Given the description of an element on the screen output the (x, y) to click on. 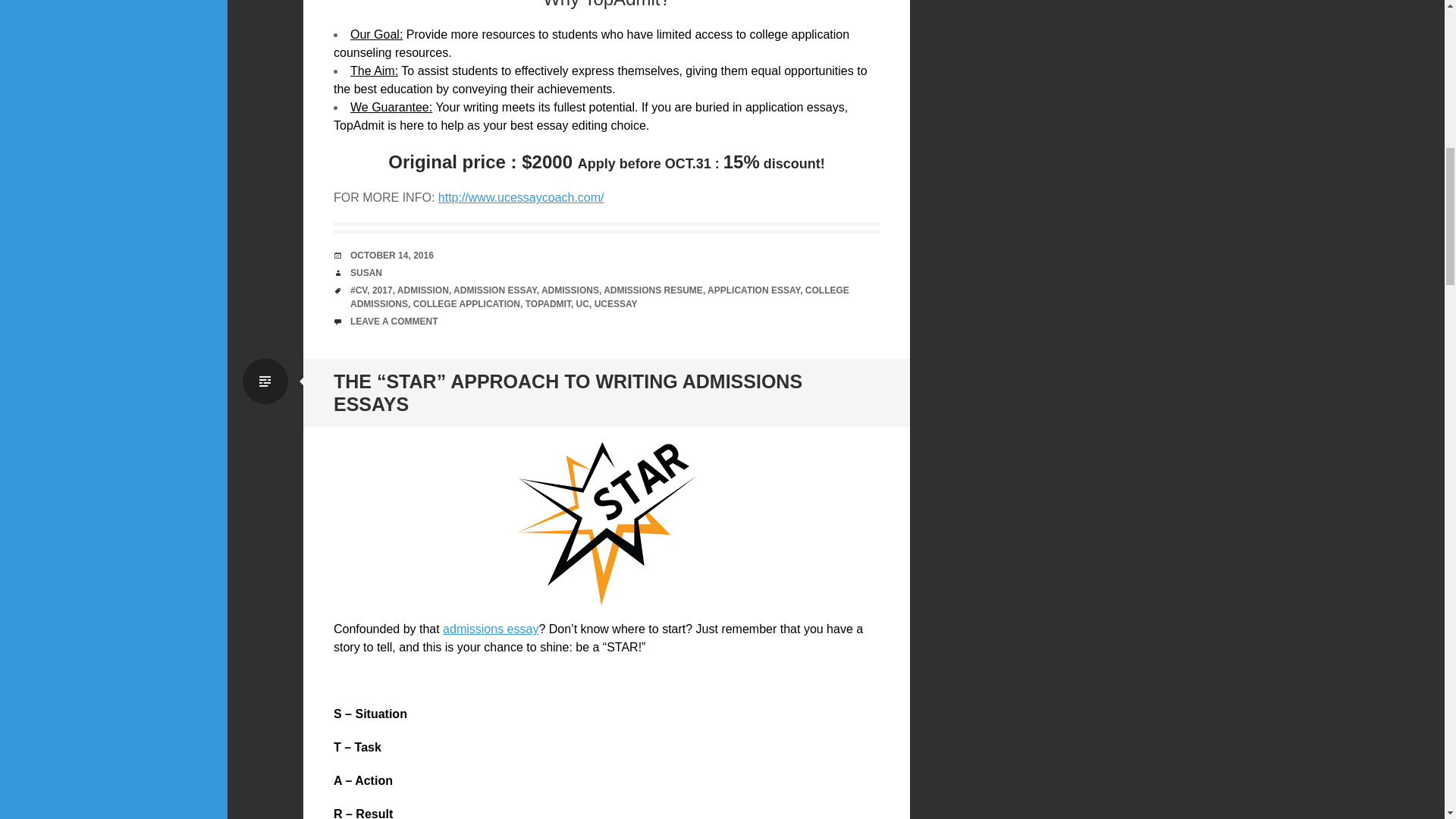
ADMISSION (422, 290)
COLLEGE ADMISSIONS (599, 297)
2017 (382, 290)
View all posts by Susan (365, 272)
UCESSAY (615, 303)
UC (582, 303)
ADMISSIONS RESUME (653, 290)
OCTOBER 14, 2016 (391, 255)
SUSAN (365, 272)
admissions essay (490, 628)
